Given the description of an element on the screen output the (x, y) to click on. 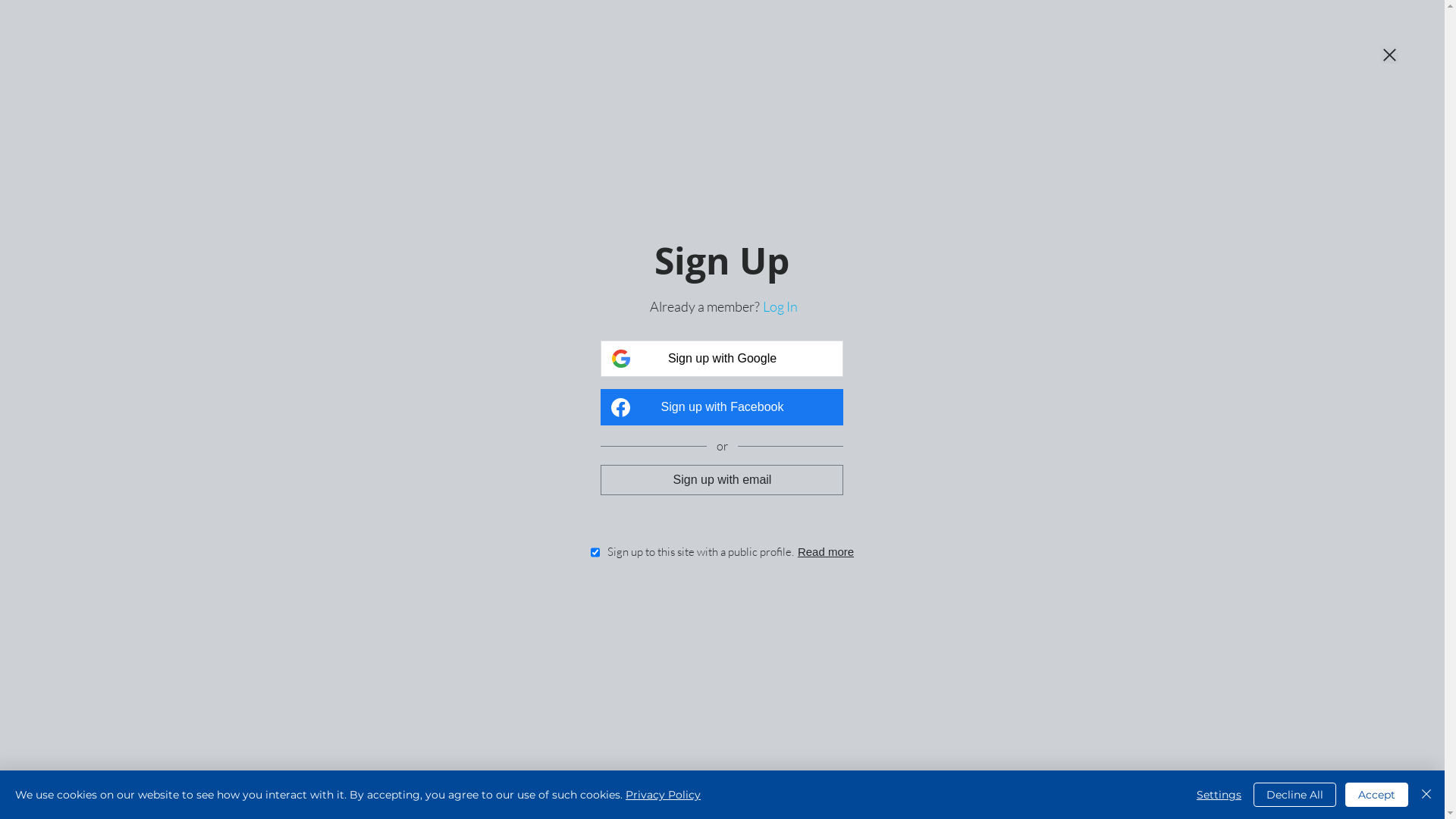
Log In Element type: text (779, 306)
Sign up with Facebook Element type: text (721, 407)
Privacy Policy Element type: text (662, 794)
Accept Element type: text (1376, 794)
Decline All Element type: text (1294, 794)
Sign up with email Element type: text (721, 479)
Sign up with Google Element type: text (721, 358)
Read more Element type: text (825, 551)
